Given the description of an element on the screen output the (x, y) to click on. 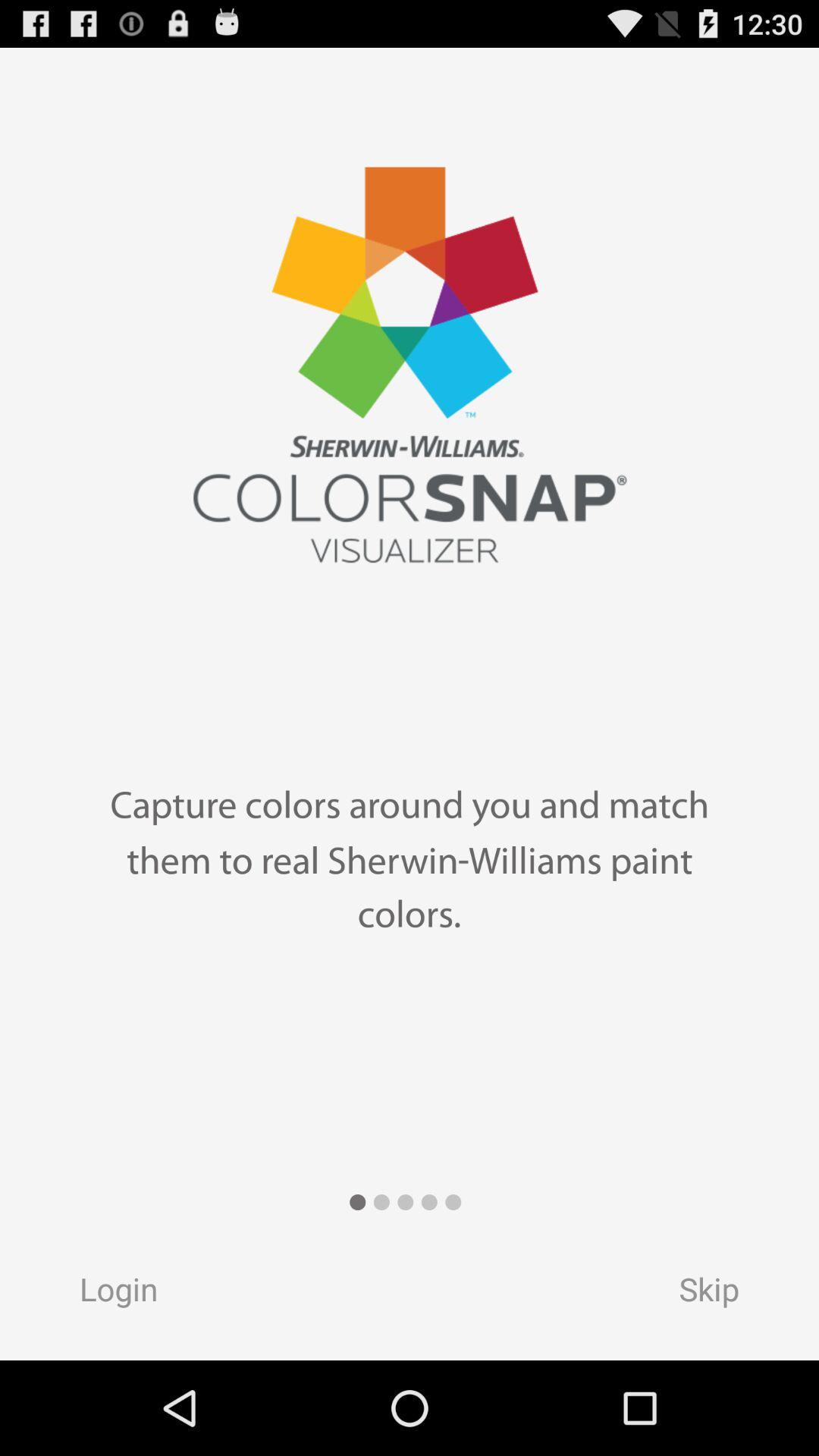
click item below the capture colors around app (104, 1293)
